Given the description of an element on the screen output the (x, y) to click on. 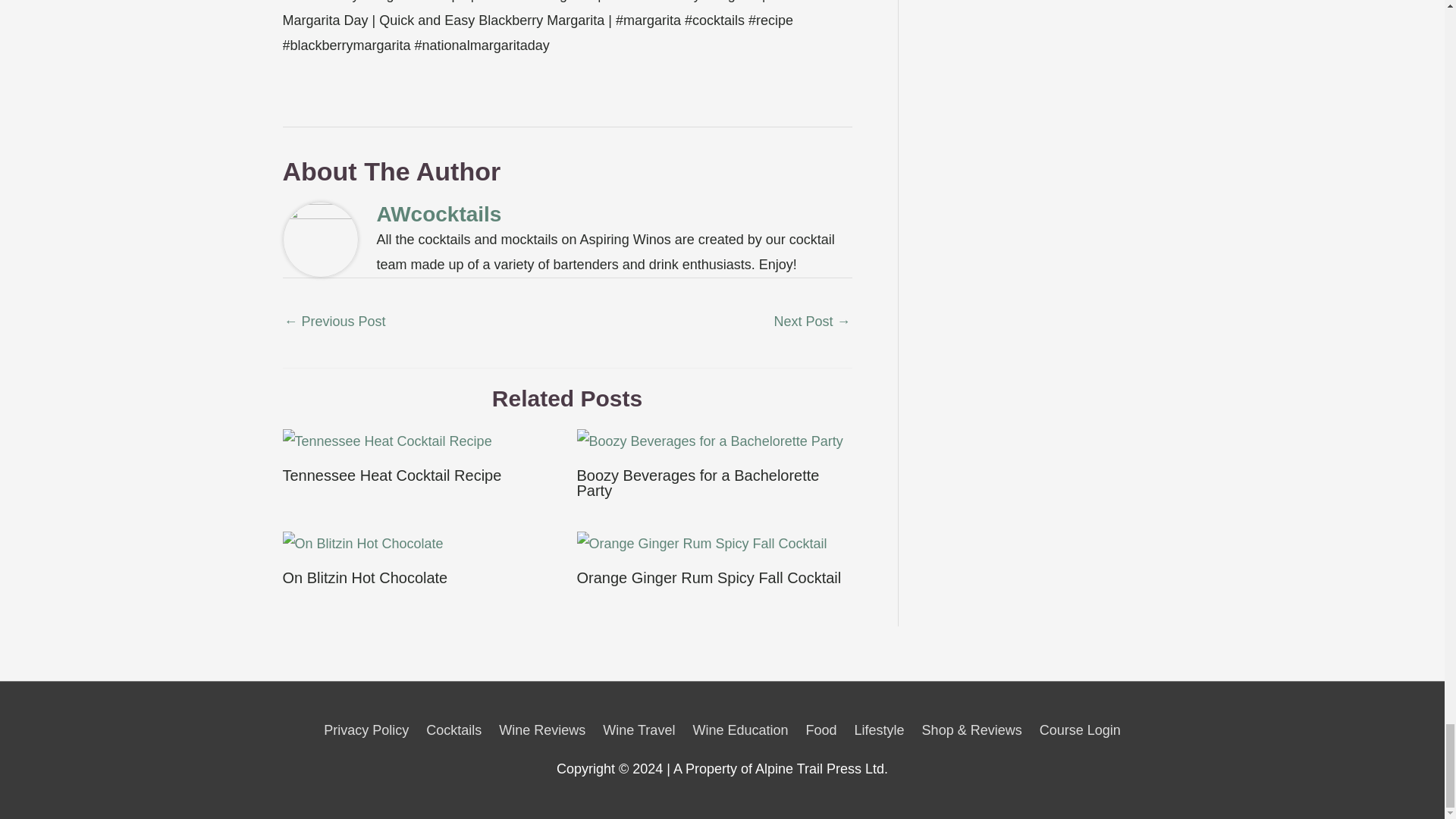
Orange Cocktail Recipes (811, 323)
Bourbon Apple Bars Recipe (334, 323)
